Given the description of an element on the screen output the (x, y) to click on. 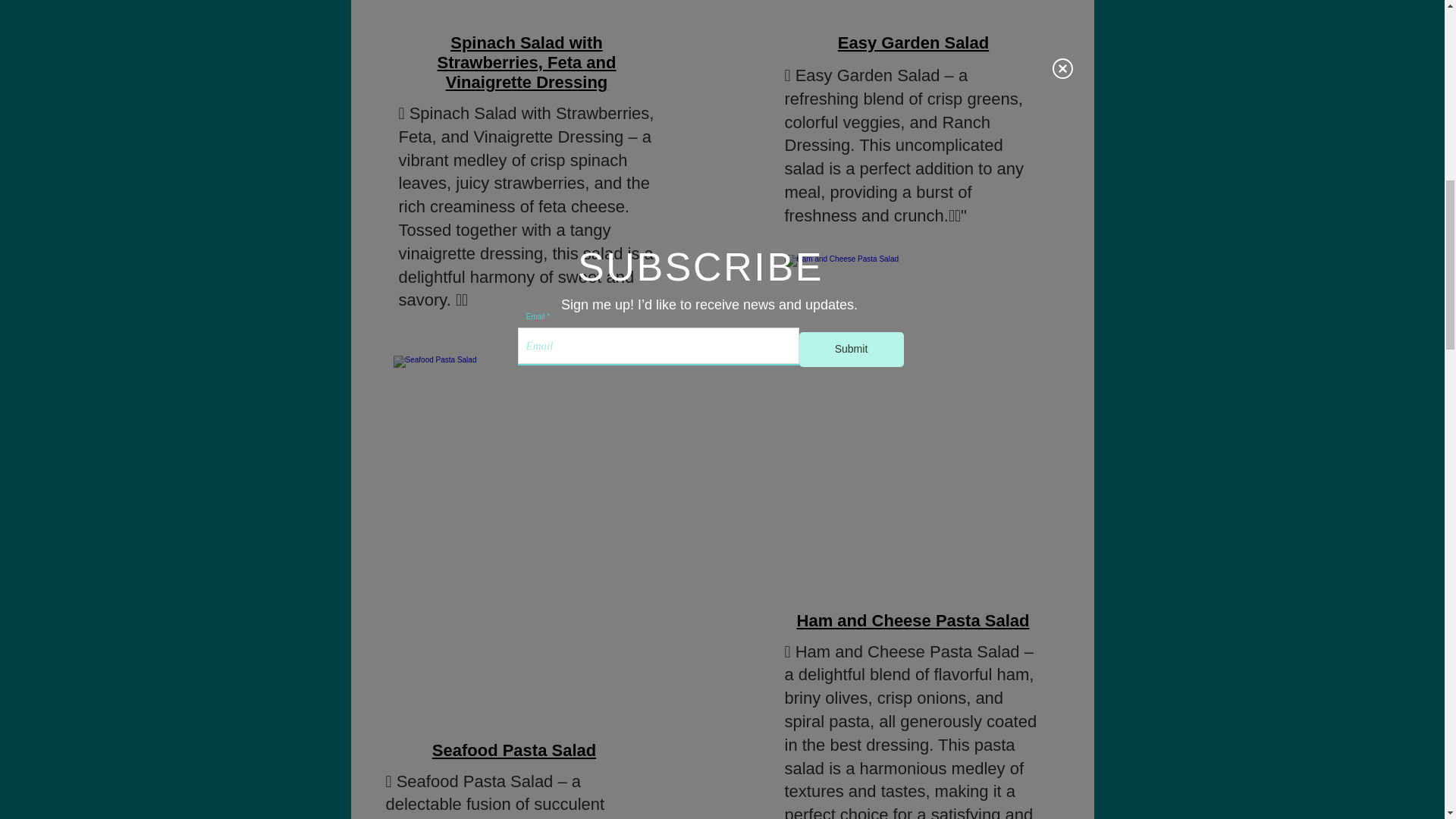
Seafood Pasta Salad (513, 750)
Strawberry Spinach Salad (527, 12)
Ham and Cheese Pasta Salad (912, 619)
Ham and Cheese Pasta Salad (912, 425)
Ham and Cheese Pasta Salad (914, 12)
Seafood Pasta Salad (523, 529)
Easy Garden Salad (913, 42)
